Given the description of an element on the screen output the (x, y) to click on. 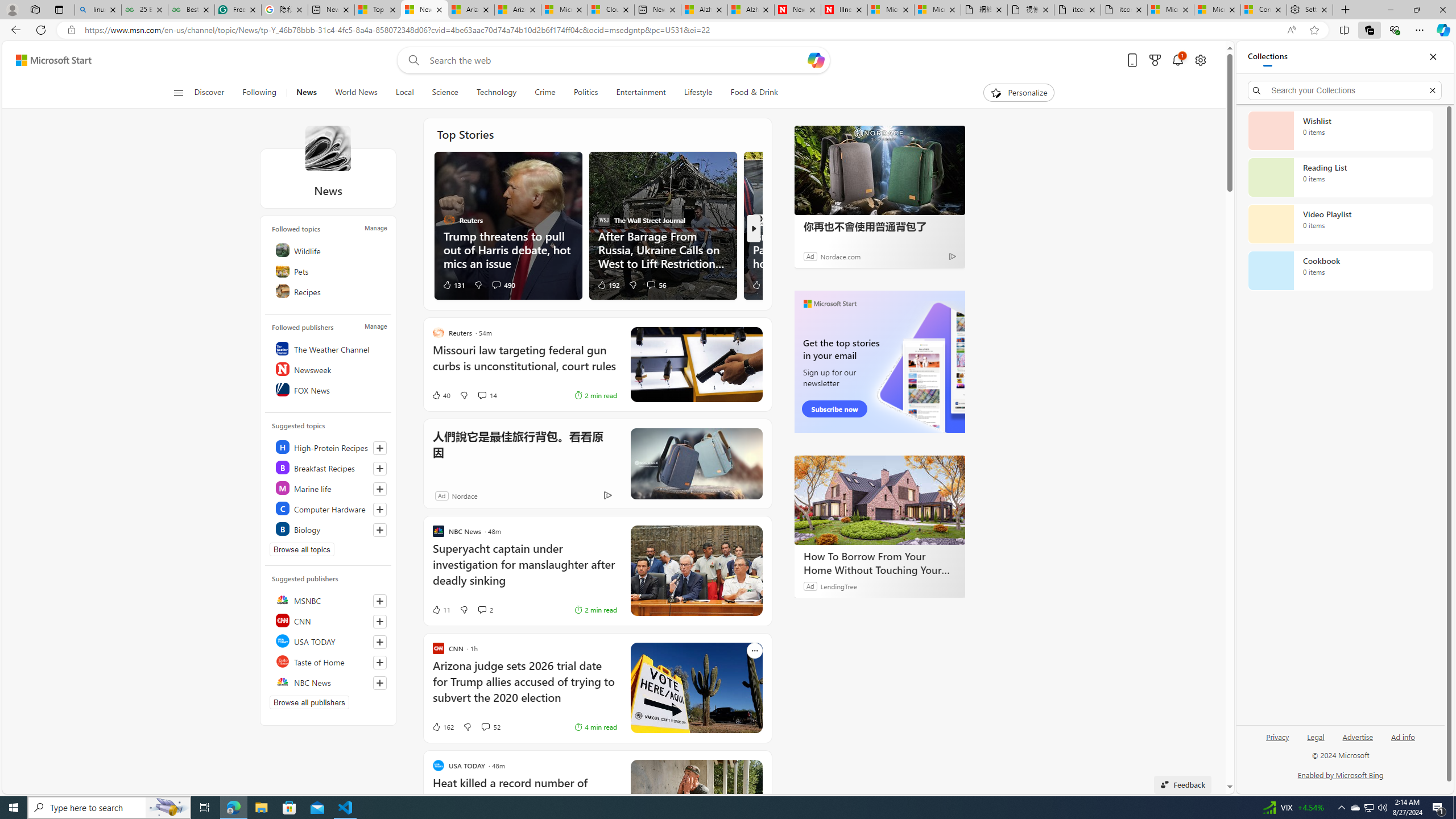
Heat killed a record number of Americans last year (524, 796)
